Given the description of an element on the screen output the (x, y) to click on. 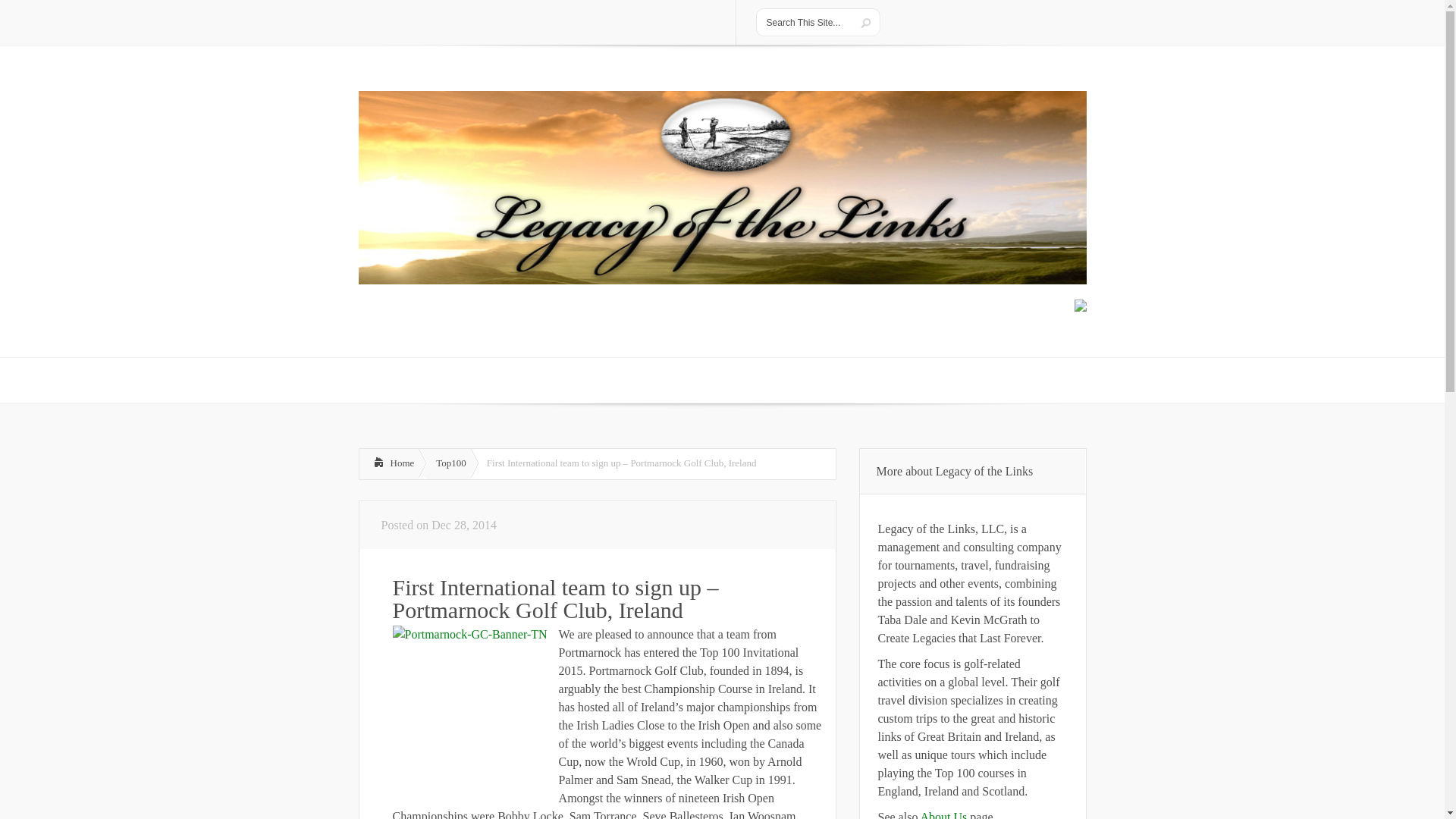
Top100 (448, 463)
Search This Site... (805, 22)
About Us (944, 814)
Home (389, 463)
